Given the description of an element on the screen output the (x, y) to click on. 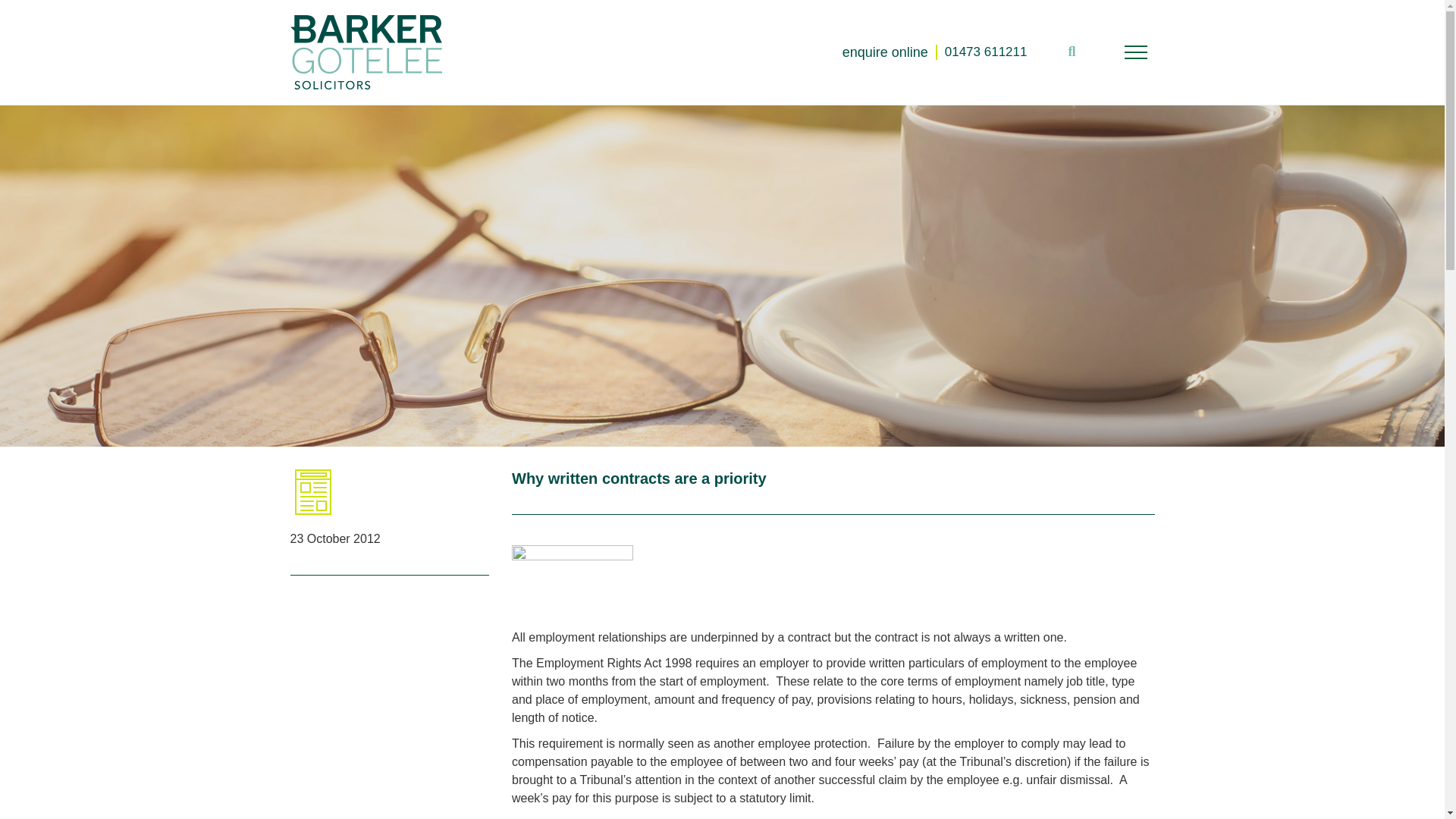
Clare Richards (572, 582)
Clare Richards (572, 581)
enquire online (890, 52)
